Given the description of an element on the screen output the (x, y) to click on. 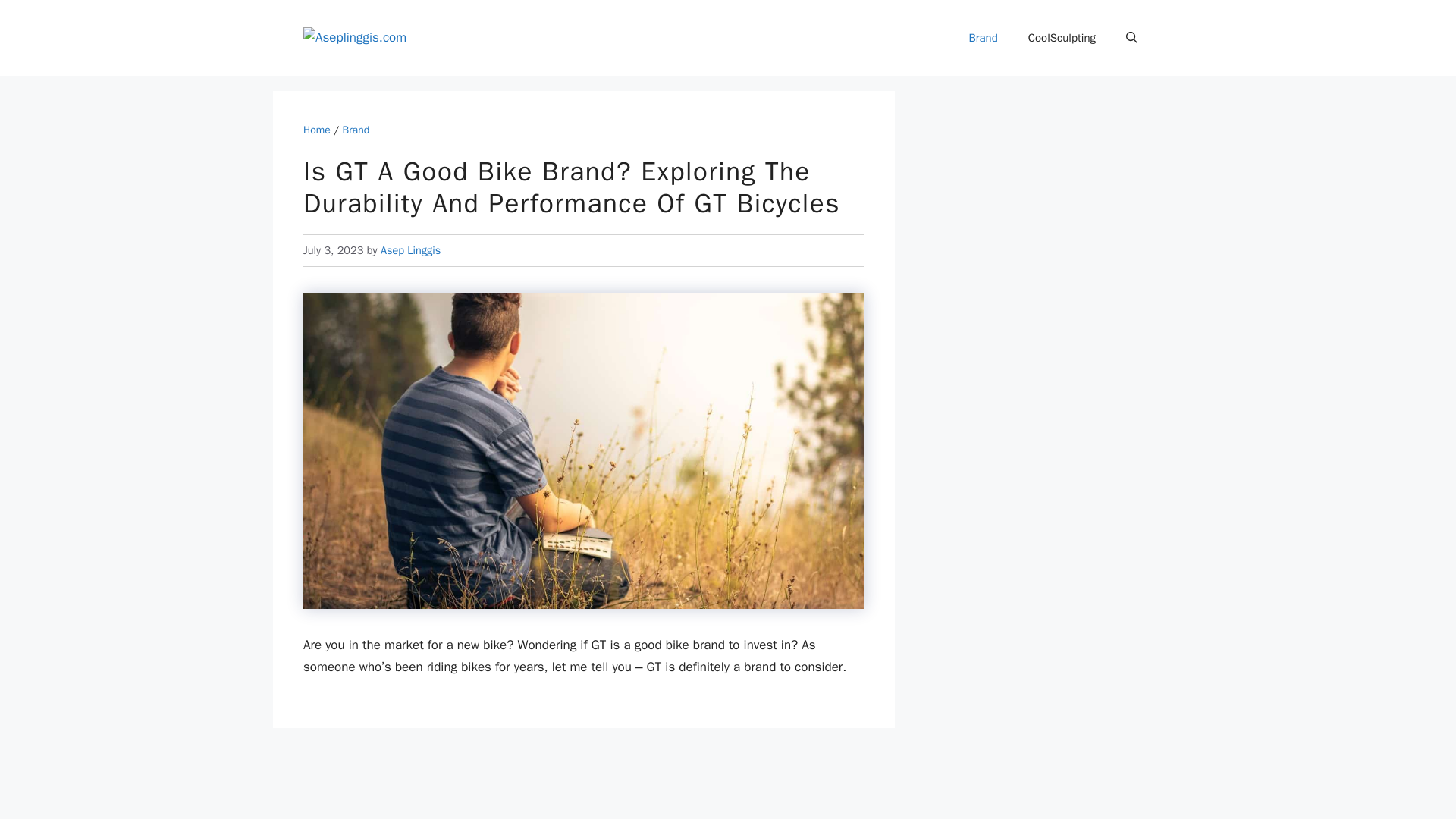
View all posts by Asep Linggis (410, 250)
Asep Linggis (410, 250)
Brand (355, 129)
CoolSculpting (1061, 37)
Brand (982, 37)
Home (316, 129)
